Given the description of an element on the screen output the (x, y) to click on. 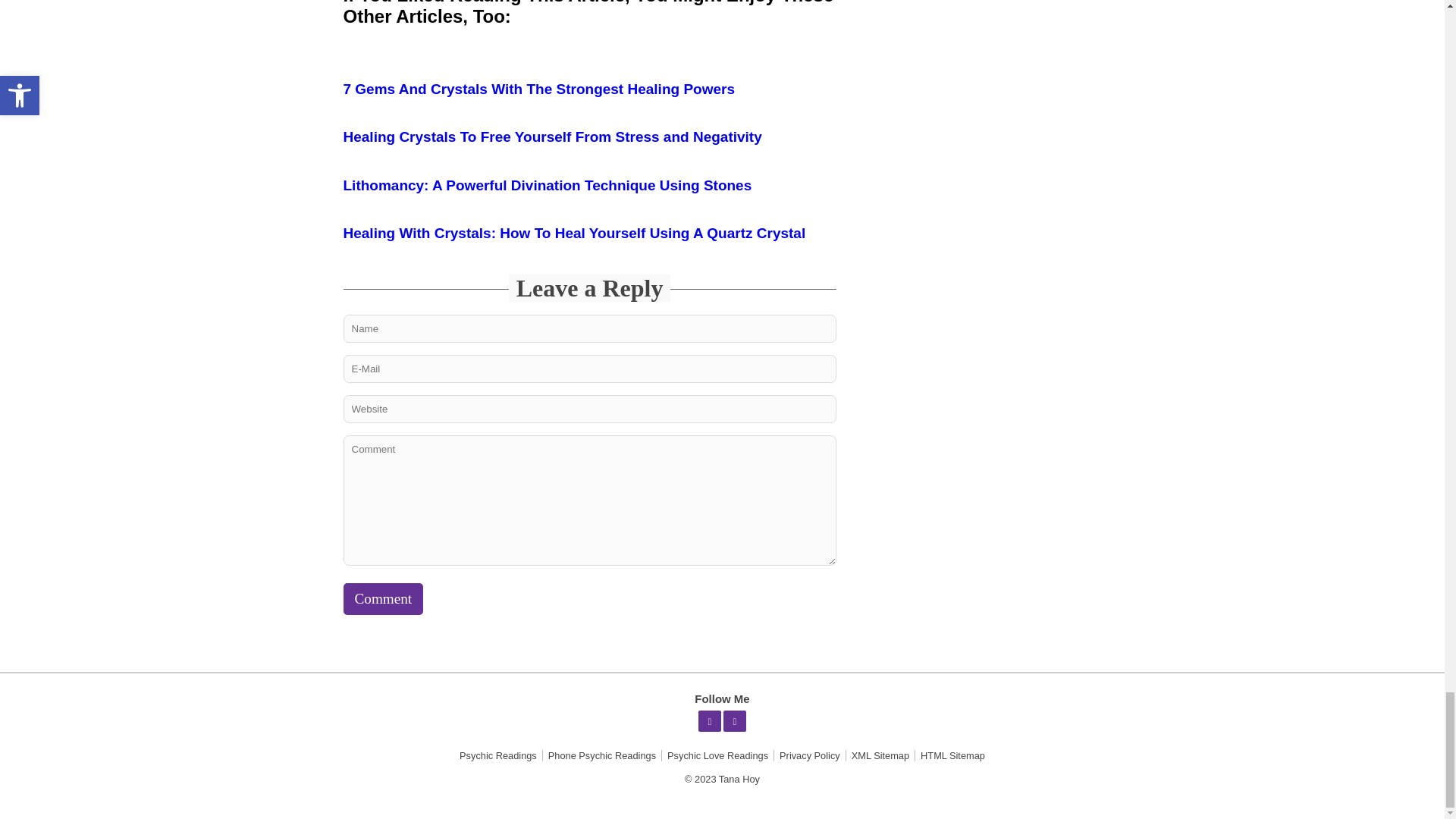
Comment (382, 599)
Comment (382, 599)
Healing Crystals To Free Yourself From Stress and Negativity (551, 136)
7 Gems And Crystals With The Strongest Healing Powers (537, 89)
Lithomancy: A Powerful Divination Technique Using Stones (546, 184)
